Given the description of an element on the screen output the (x, y) to click on. 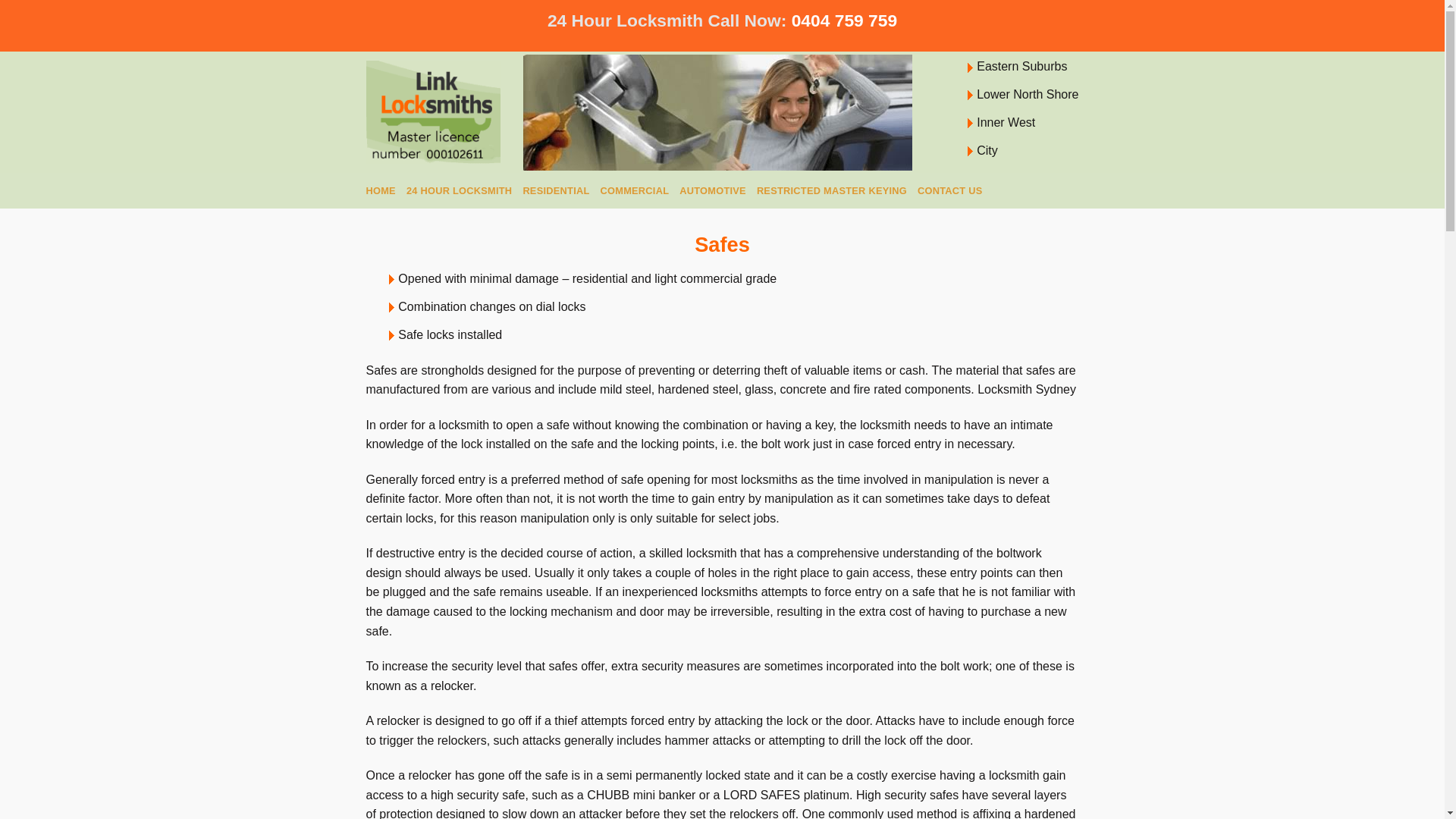
 -  Element type: hover (432, 112)
RESIDENTIAL Element type: text (555, 190)
RESTRICTED MASTER KEYING Element type: text (831, 190)
HOME Element type: text (380, 190)
AUTOMOTIVE Element type: text (712, 190)
COMMERCIAL Element type: text (634, 190)
CONTACT US Element type: text (949, 190)
24 HOUR LOCKSMITH Element type: text (458, 190)
0404 759 759 Element type: text (844, 20)
